Given the description of an element on the screen output the (x, y) to click on. 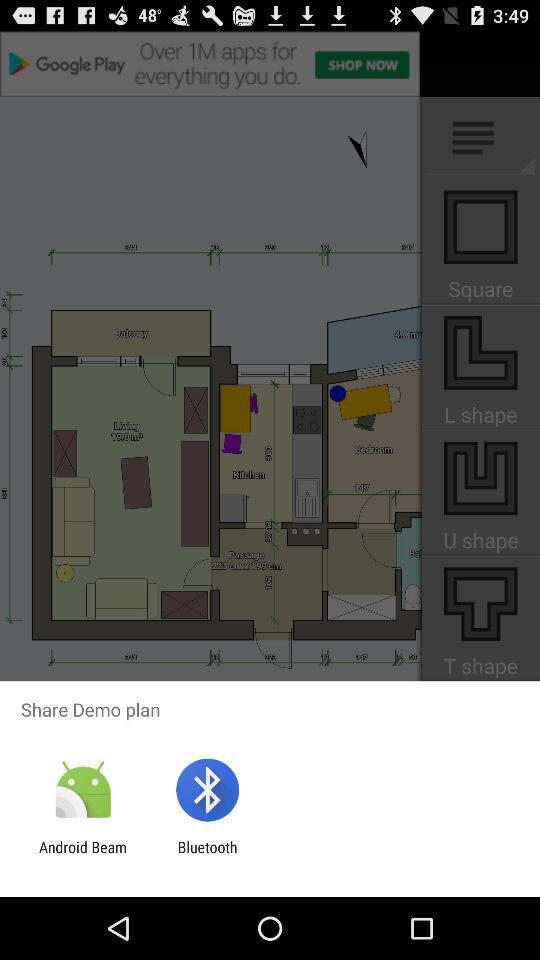
tap bluetooth app (207, 856)
